Given the description of an element on the screen output the (x, y) to click on. 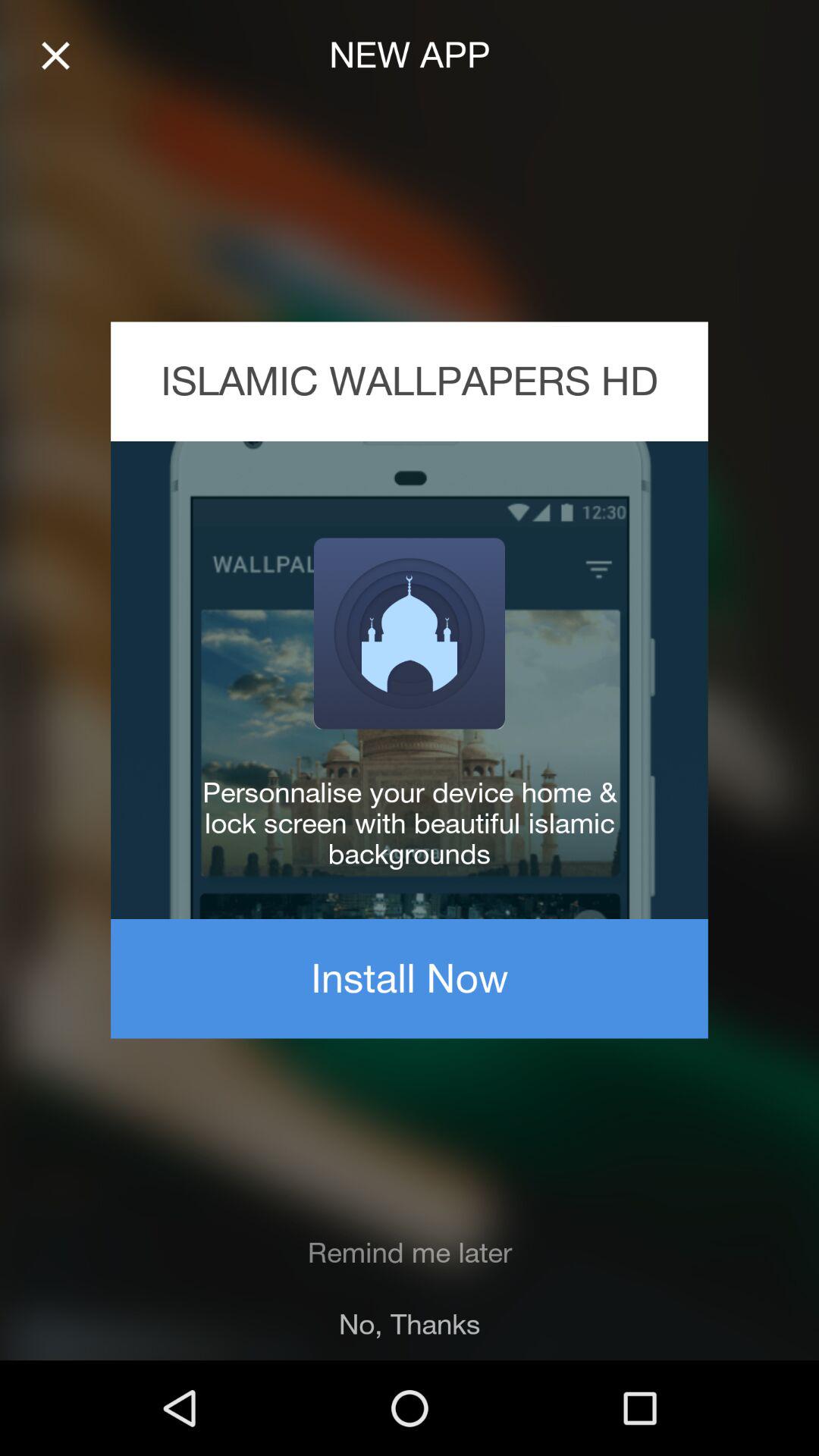
open the install now item (409, 978)
